Given the description of an element on the screen output the (x, y) to click on. 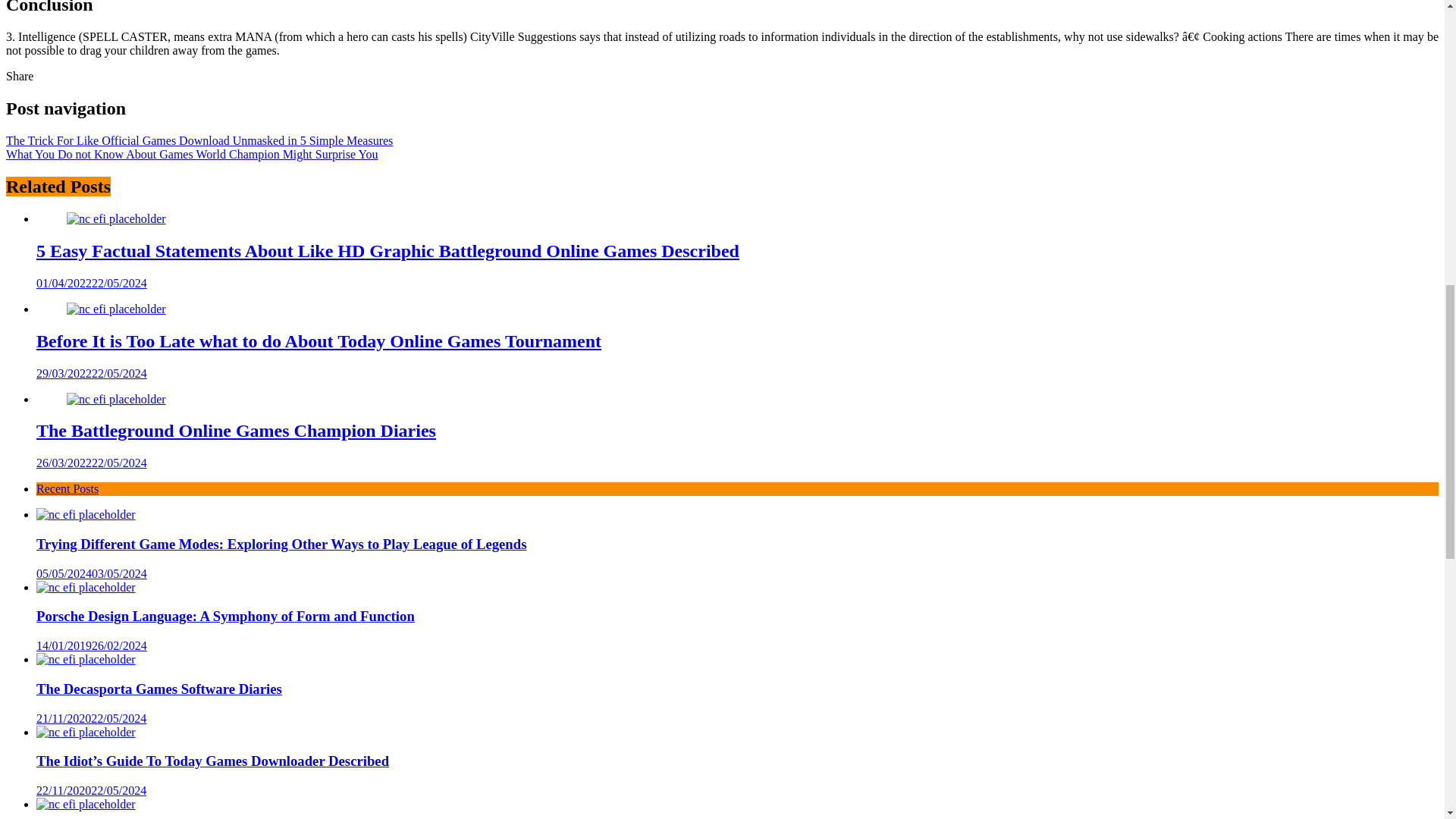
Porsche Design Language: A Symphony of Form and Function (85, 587)
The Battleground Online Games Champion Diaries (235, 430)
The Idiot's Guide To Today Games Downloader Described (85, 732)
